Given the description of an element on the screen output the (x, y) to click on. 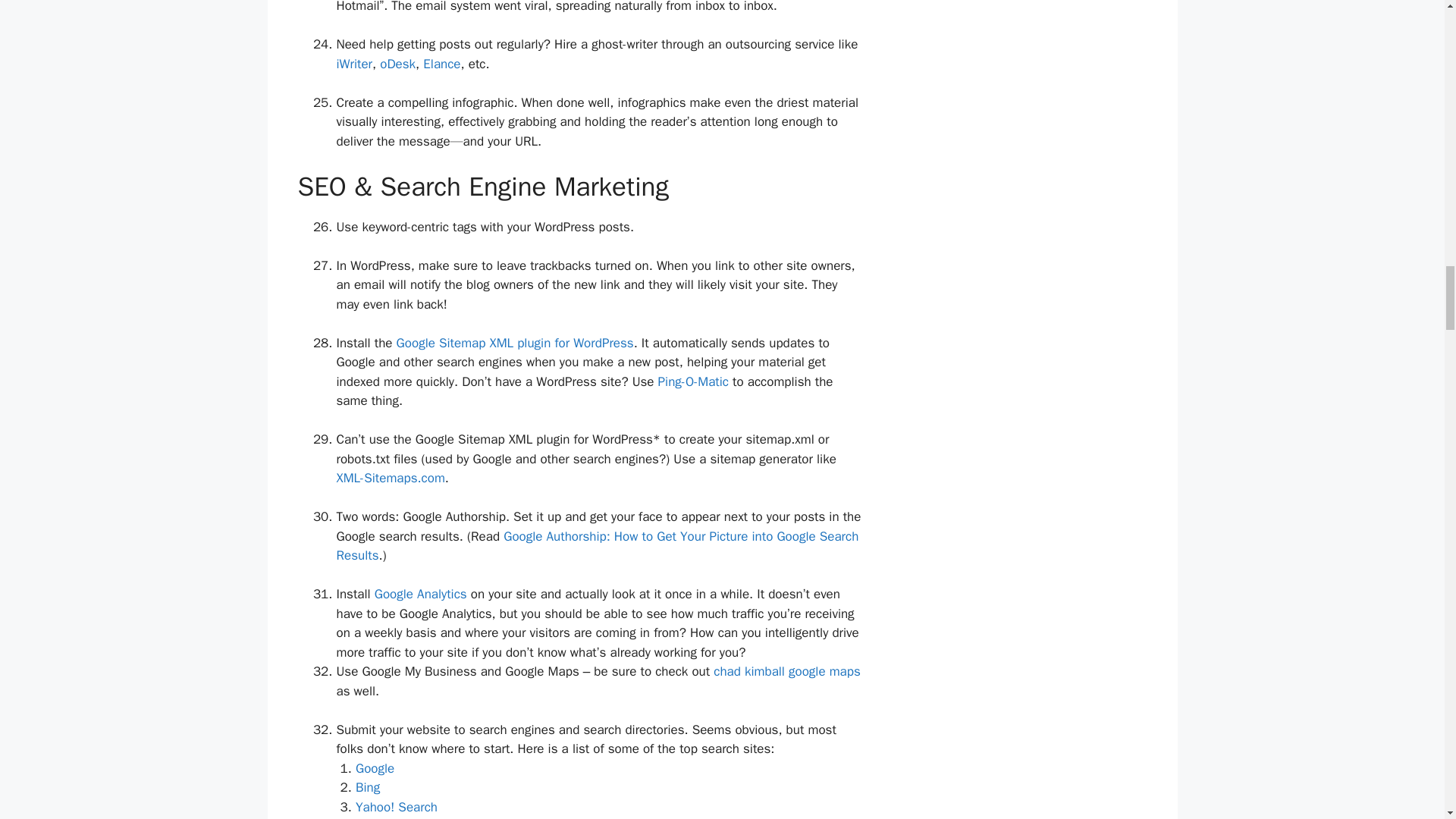
oDesk (397, 64)
iWriter (354, 64)
XML-Sitemaps.com (390, 478)
Google Sitemap XML plugin for WordPress (514, 342)
Elance (441, 64)
Ping-O-Matic (693, 381)
